Given the description of an element on the screen output the (x, y) to click on. 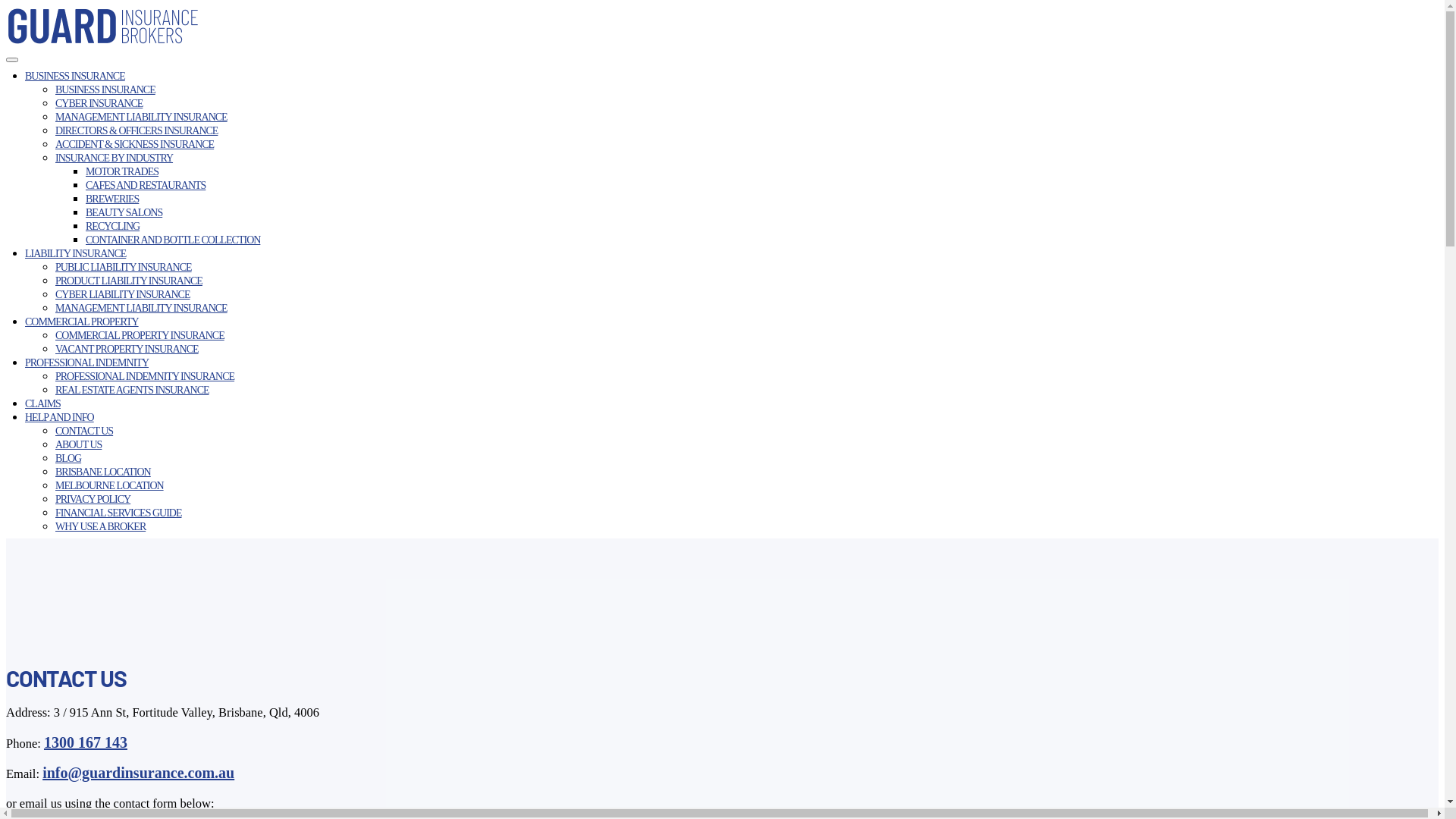
MANAGEMENT LIABILITY INSURANCE Element type: text (141, 116)
CAFES AND RESTAURANTS Element type: text (145, 184)
VACANT PROPERTY INSURANCE Element type: text (126, 348)
LIABILITY INSURANCE Element type: text (75, 252)
BUSINESS INSURANCE Element type: text (75, 75)
REAL ESTATE AGENTS INSURANCE Element type: text (132, 389)
BRISBANE LOCATION Element type: text (102, 470)
WHY USE A BROKER Element type: text (100, 525)
MELBOURNE LOCATION Element type: text (109, 484)
PUBLIC LIABILITY INSURANCE Element type: text (123, 266)
CONTAINER AND BOTTLE COLLECTION Element type: text (172, 238)
RECYCLING Element type: text (112, 225)
COMMERCIAL PROPERTY Element type: text (81, 320)
ABOUT US Element type: text (78, 443)
CYBER LIABILITY INSURANCE Element type: text (122, 293)
COMMERCIAL PROPERTY INSURANCE Element type: text (139, 334)
1300 167 143 Element type: text (85, 742)
BEAUTY SALONS Element type: text (123, 211)
MOTOR TRADES Element type: text (121, 170)
CYBER INSURANCE Element type: text (98, 102)
CLAIMS Element type: text (42, 402)
FINANCIAL SERVICES GUIDE Element type: text (118, 511)
PROFESSIONAL INDEMNITY Element type: text (86, 361)
INSURANCE BY INDUSTRY Element type: text (113, 157)
BLOG Element type: text (68, 457)
PROFESSIONAL INDEMNITY INSURANCE Element type: text (144, 375)
HELP AND INFO Element type: text (59, 416)
CONTACT US Element type: text (83, 430)
BREWERIES Element type: text (111, 197)
BUSINESS INSURANCE Element type: text (105, 88)
ACCIDENT & SICKNESS INSURANCE Element type: text (134, 143)
PRODUCT LIABILITY INSURANCE Element type: text (128, 279)
MANAGEMENT LIABILITY INSURANCE Element type: text (141, 307)
PRIVACY POLICY Element type: text (92, 498)
DIRECTORS & OFFICERS INSURANCE Element type: text (136, 129)
info@guardinsurance.com.au Element type: text (138, 772)
